Given the description of an element on the screen output the (x, y) to click on. 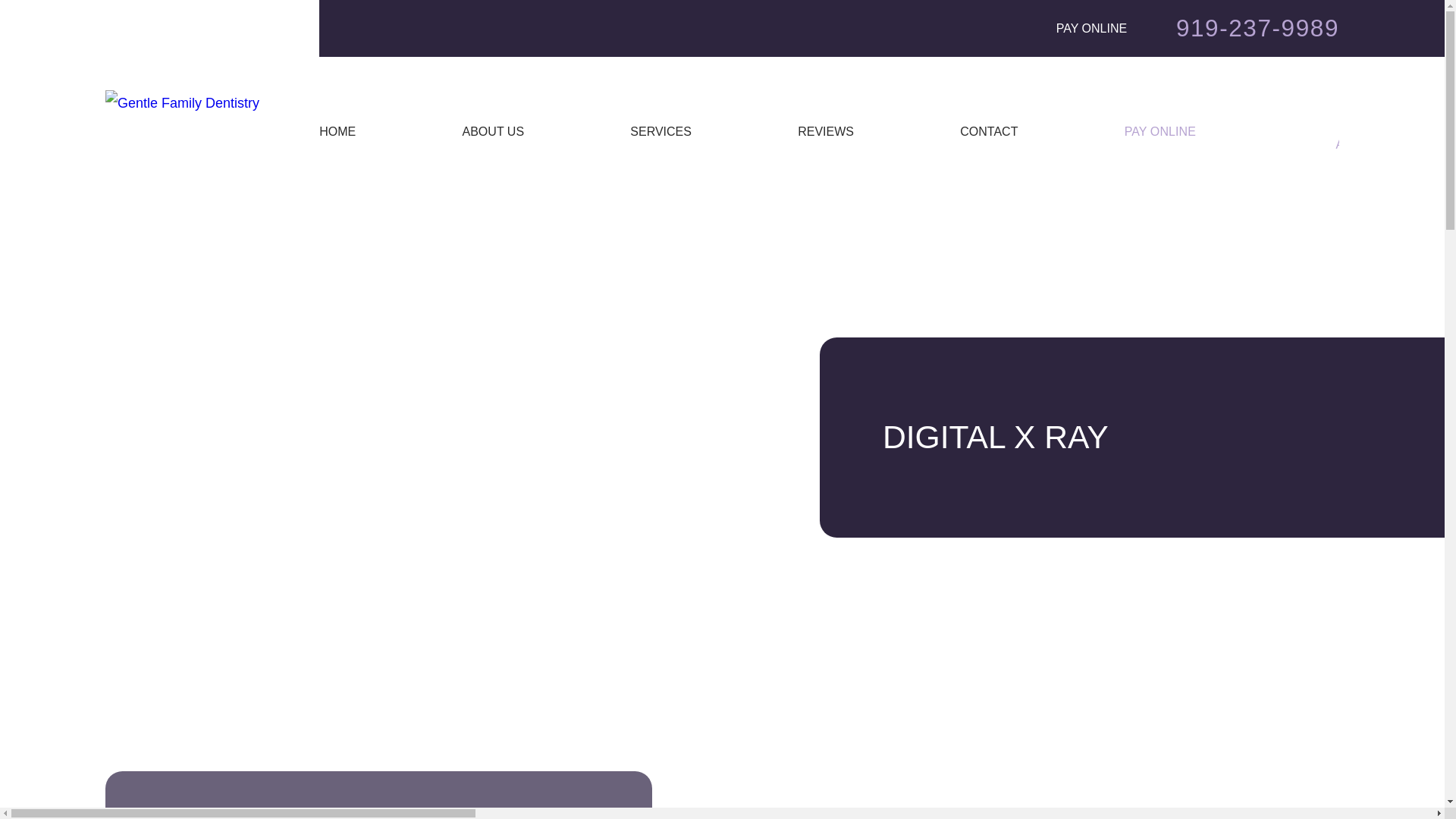
PAY ONLINE (1091, 28)
Gentle Family Dentistry (181, 103)
ABOUT US (526, 131)
Open the accessibility options menu (1423, 786)
SERVICES (694, 131)
919-237-9989 (1257, 28)
HOME (371, 131)
